Given the description of an element on the screen output the (x, y) to click on. 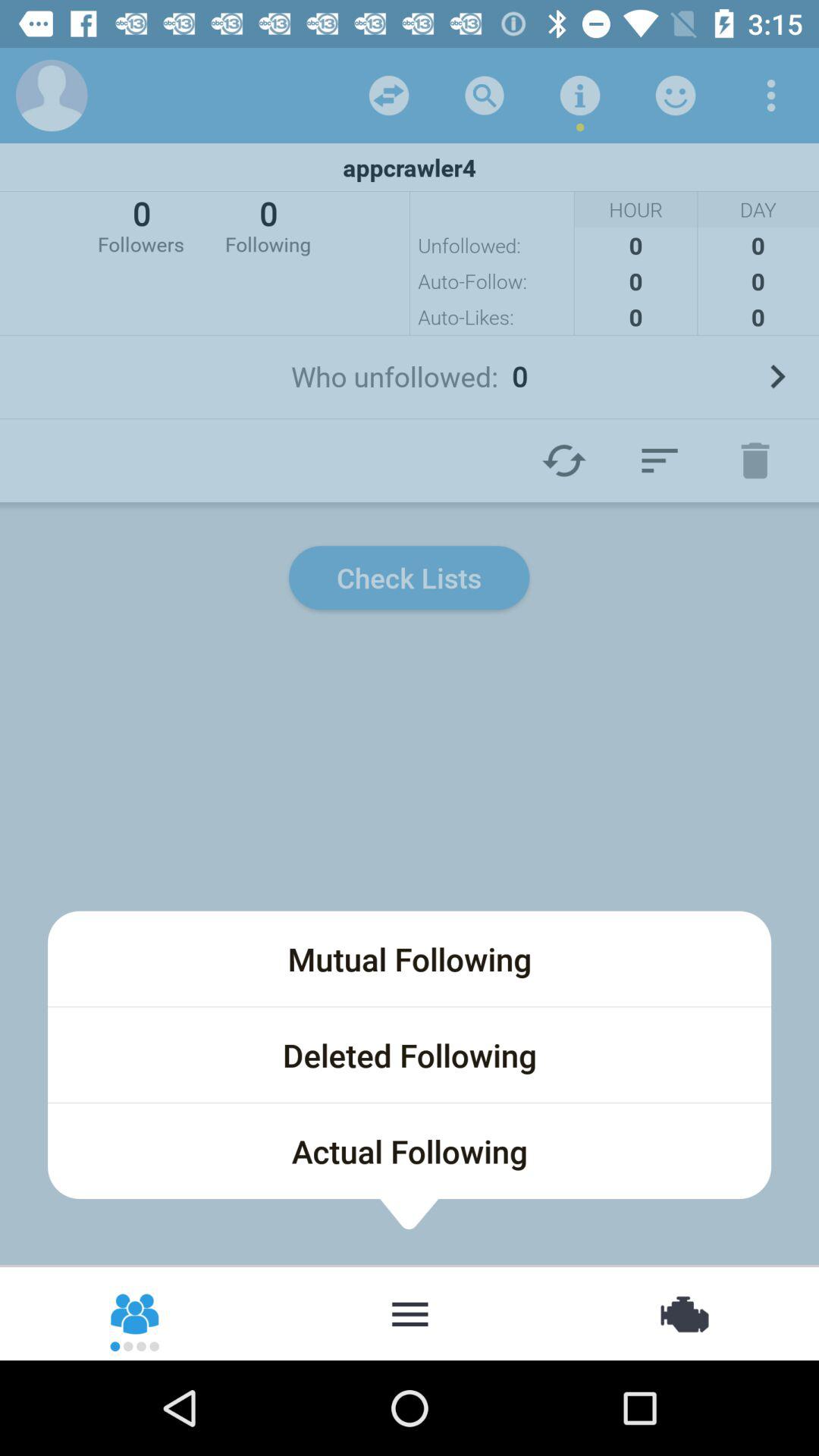
tap the item above the appcrawler4 (675, 95)
